Given the description of an element on the screen output the (x, y) to click on. 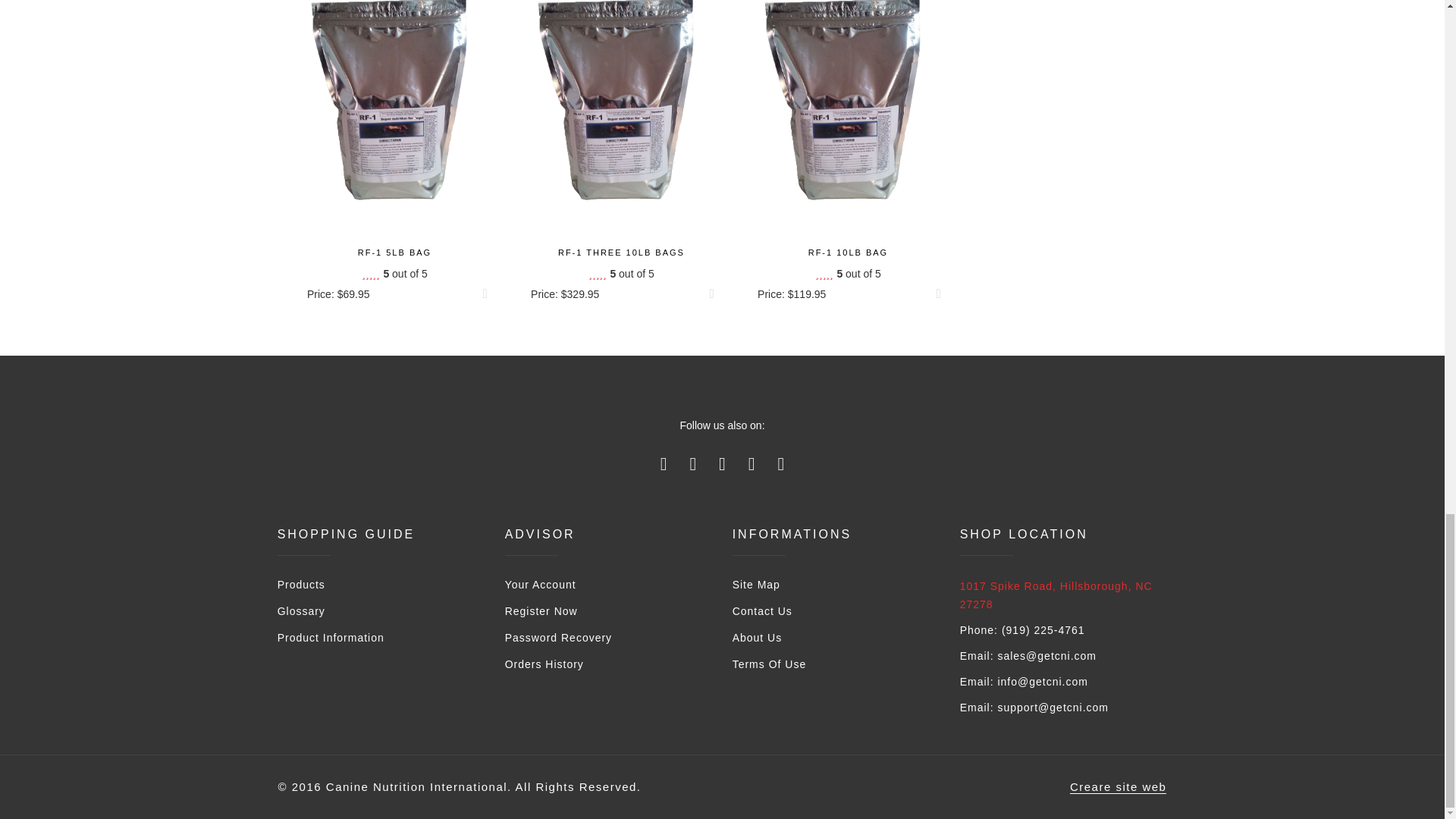
Rated 5 out of 5 (620, 273)
Creare site web (1118, 787)
Rated 5 out of 5 (848, 273)
Rated 5 out of 5 (393, 273)
